Given the description of an element on the screen output the (x, y) to click on. 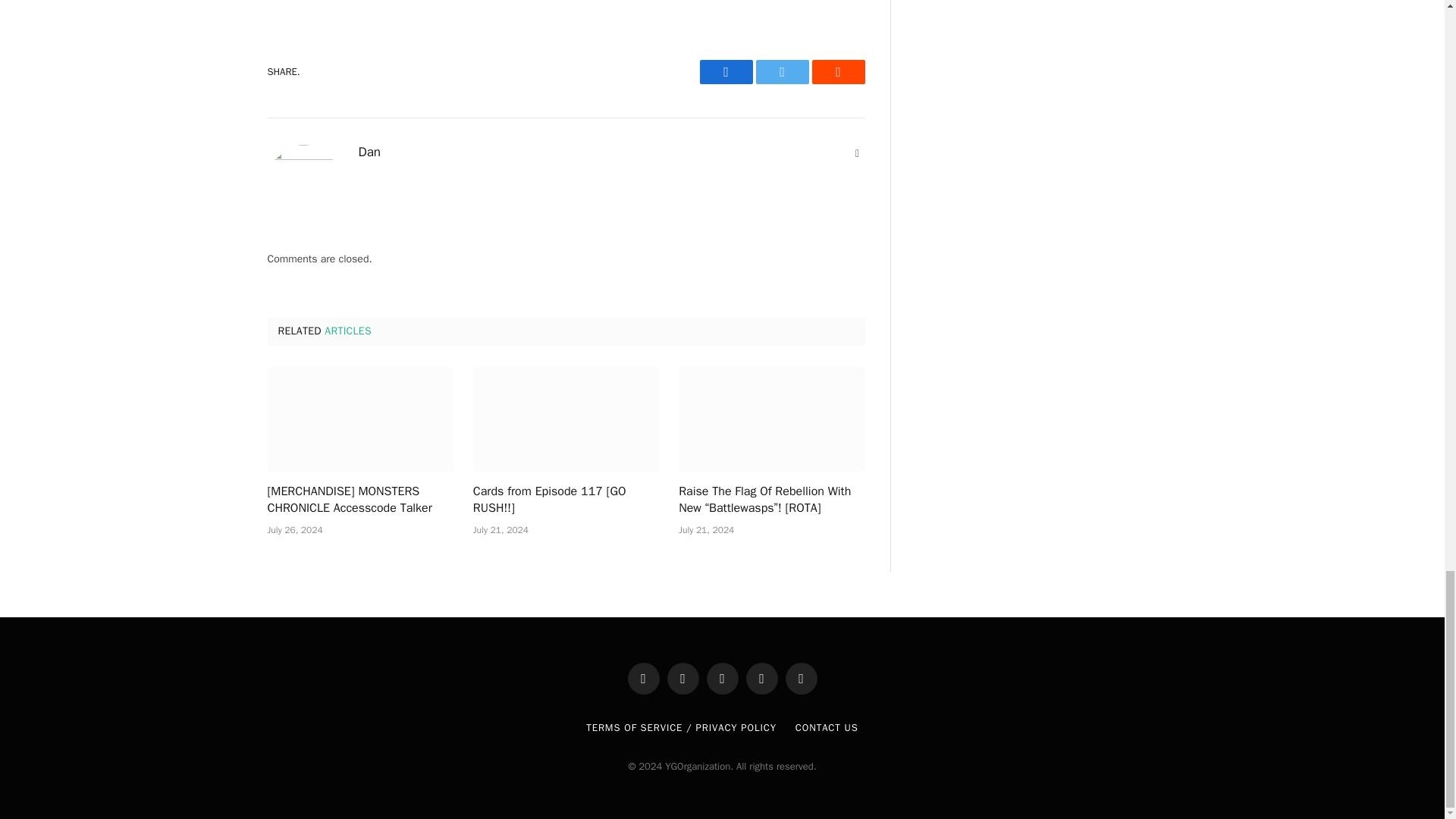
Share on Reddit (837, 71)
Share on Facebook (725, 71)
